Given the description of an element on the screen output the (x, y) to click on. 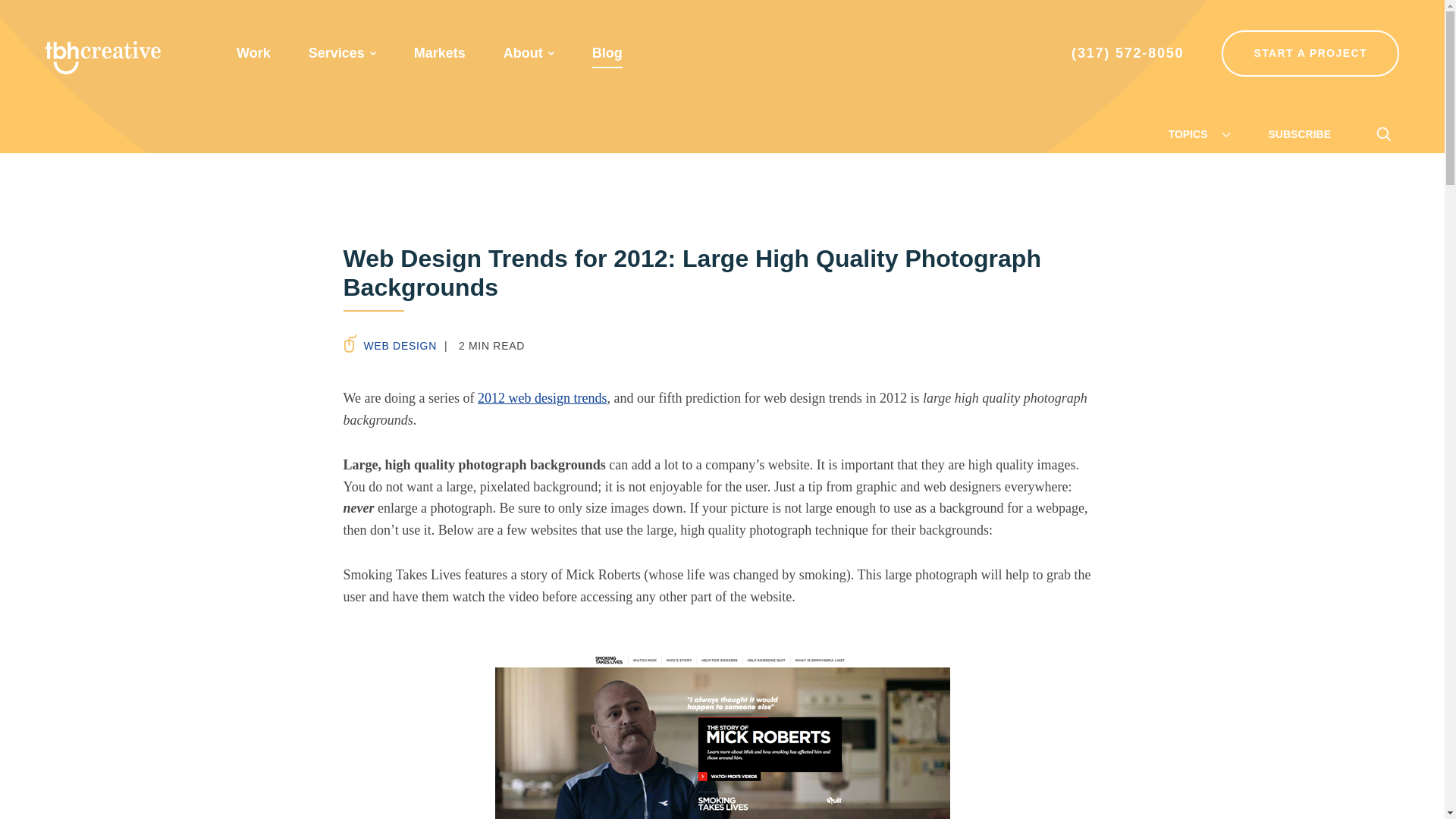
WEB DESIGN (388, 345)
SUBSCRIBE (1299, 134)
SUBSCRIBE (1299, 134)
Services (336, 52)
Markets (439, 52)
About (523, 52)
START A PROJECT (1310, 53)
TOPICS (1199, 134)
Work (252, 52)
2012 web design trends (542, 397)
Blog (607, 52)
TBH Creative (102, 57)
